Given the description of an element on the screen output the (x, y) to click on. 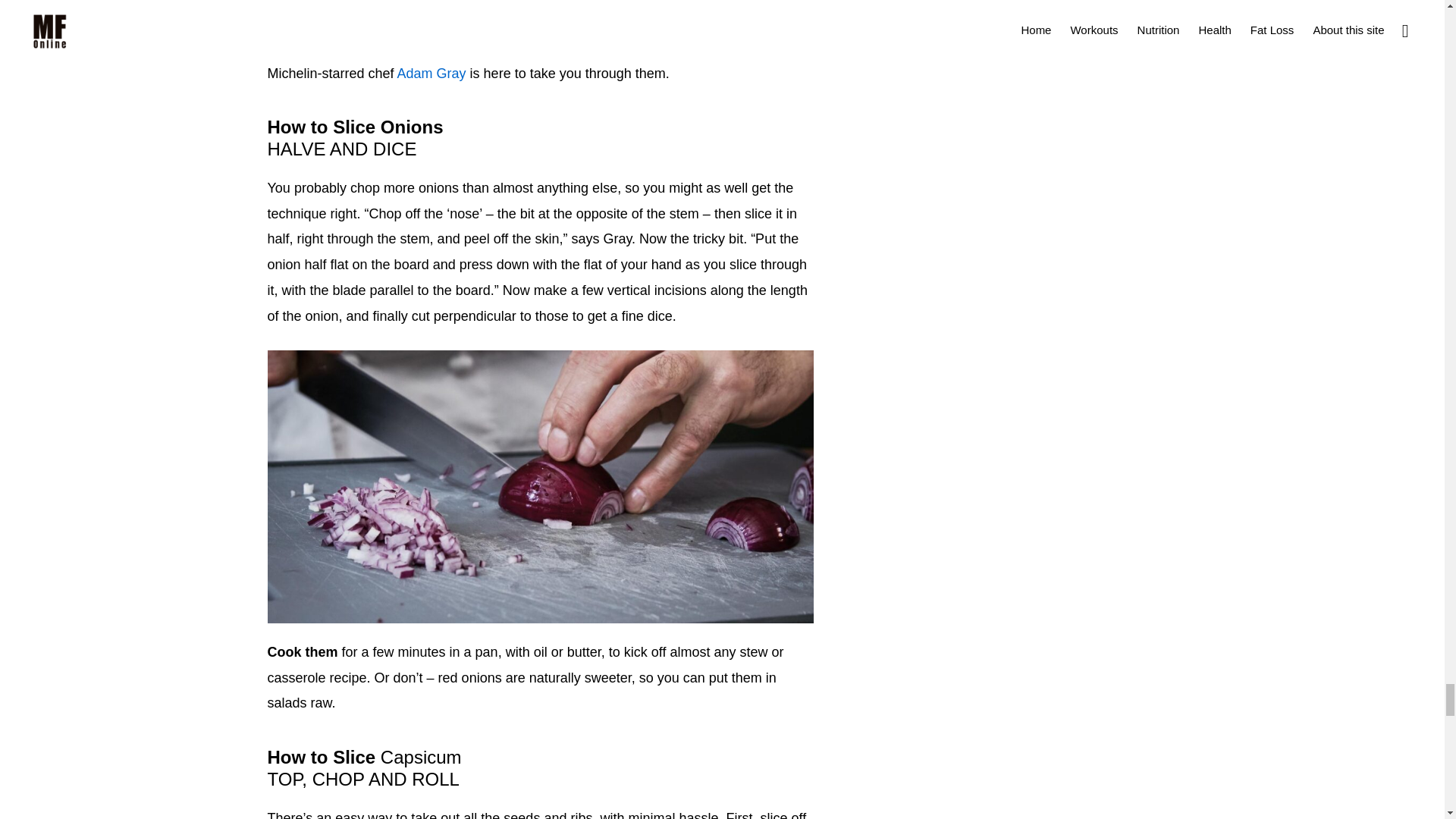
Adam Gray (431, 73)
